Given the description of an element on the screen output the (x, y) to click on. 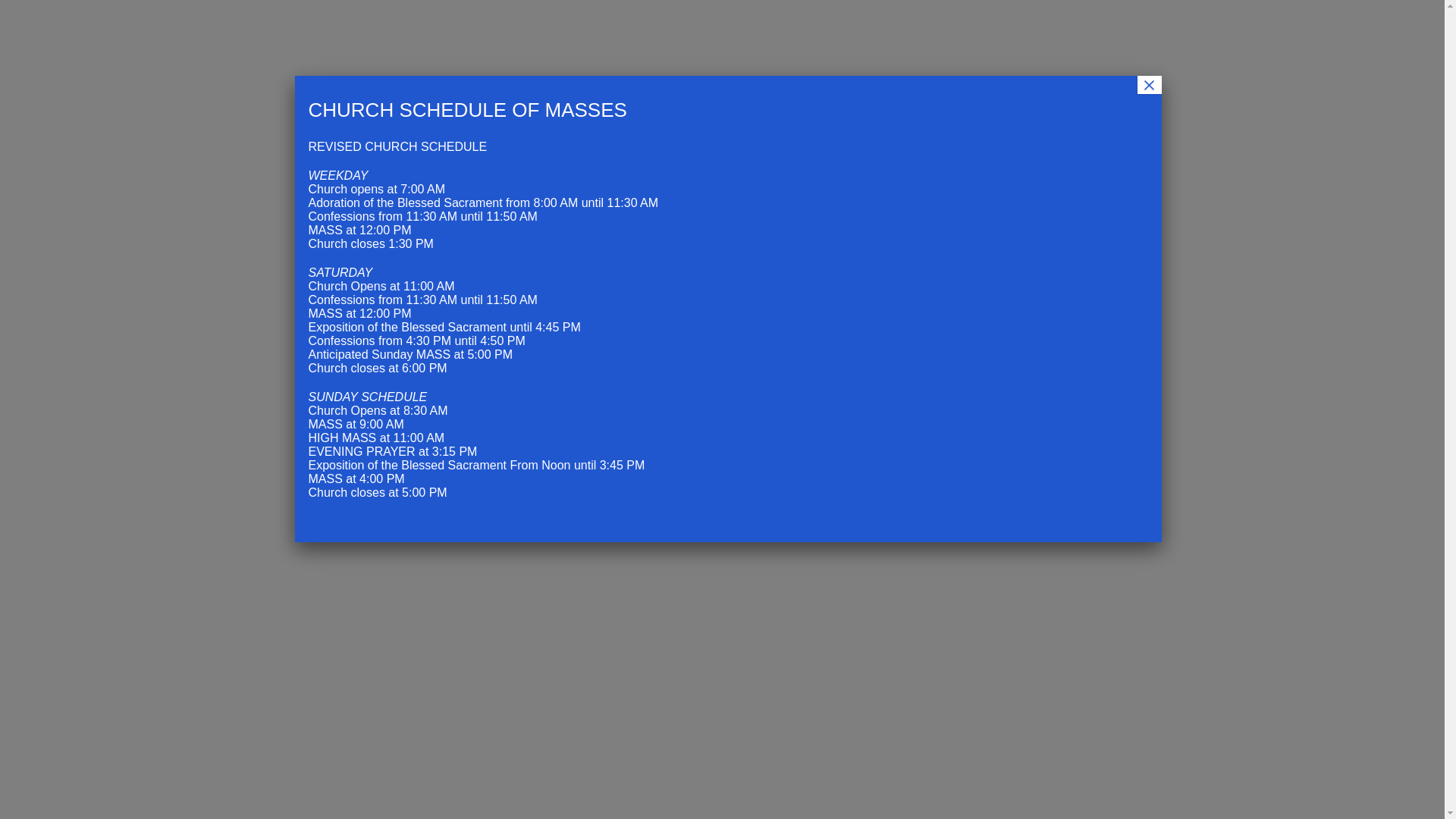
Posts by Eglise Saint Jean Baptiste (480, 348)
ABOUT (444, 66)
LITURGY (508, 66)
EDUCATION (584, 66)
DONATE (1119, 65)
SUPPORT (1101, 17)
16th (487, 475)
MUSIC (654, 66)
COMMUNITY (726, 66)
EIGHTEENTH SUNDAY OF ORDINARY TIME, August 4, 2024 (1076, 406)
